Given the description of an element on the screen output the (x, y) to click on. 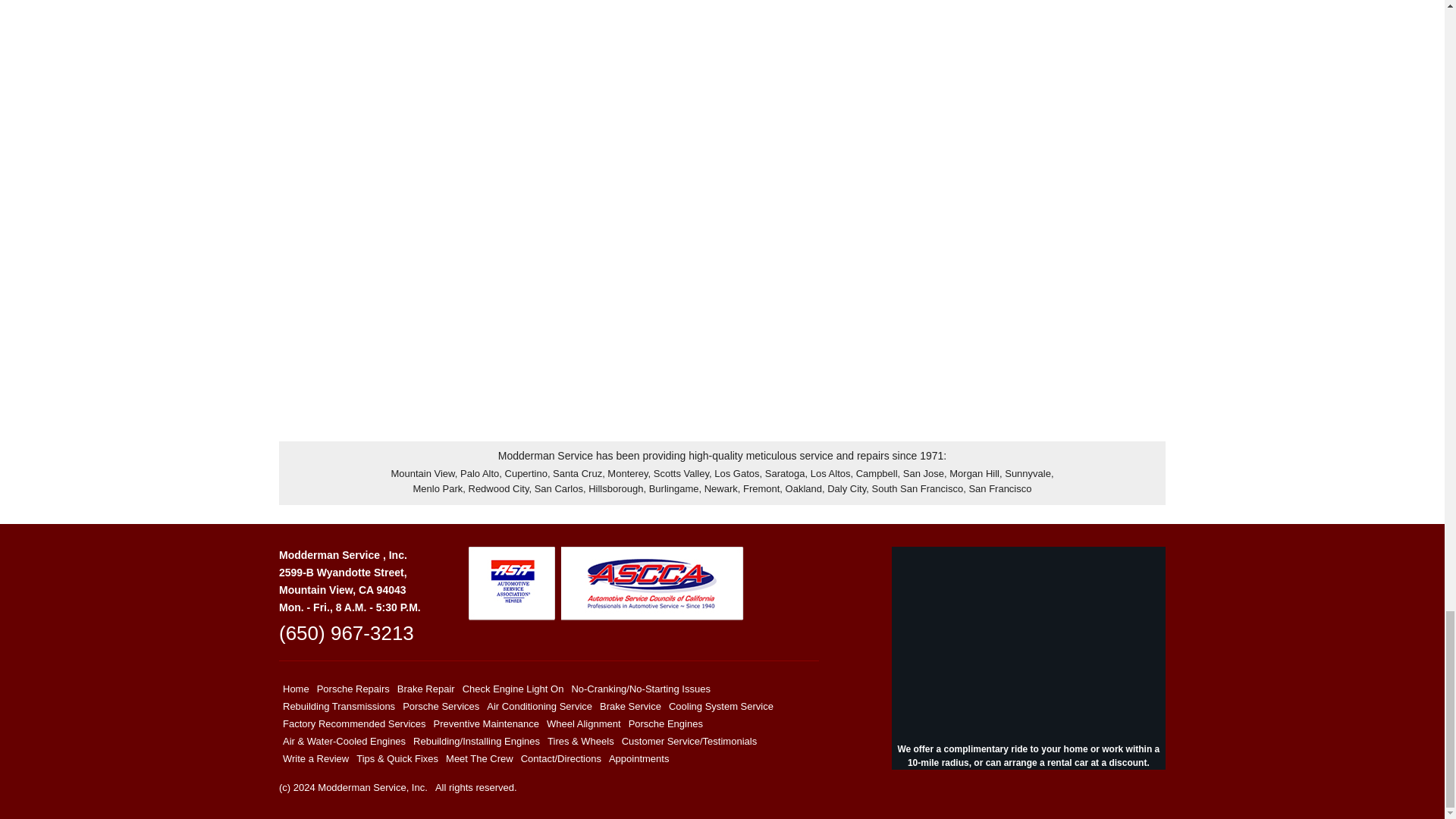
Home (296, 688)
Porsche Repairs (353, 688)
Porsche Services (440, 705)
Brake Repair (425, 688)
Brake Service (630, 705)
Check Engine Light On (512, 688)
Rebuilding Transmissions (338, 705)
Air Conditioning Service (539, 705)
